Given the description of an element on the screen output the (x, y) to click on. 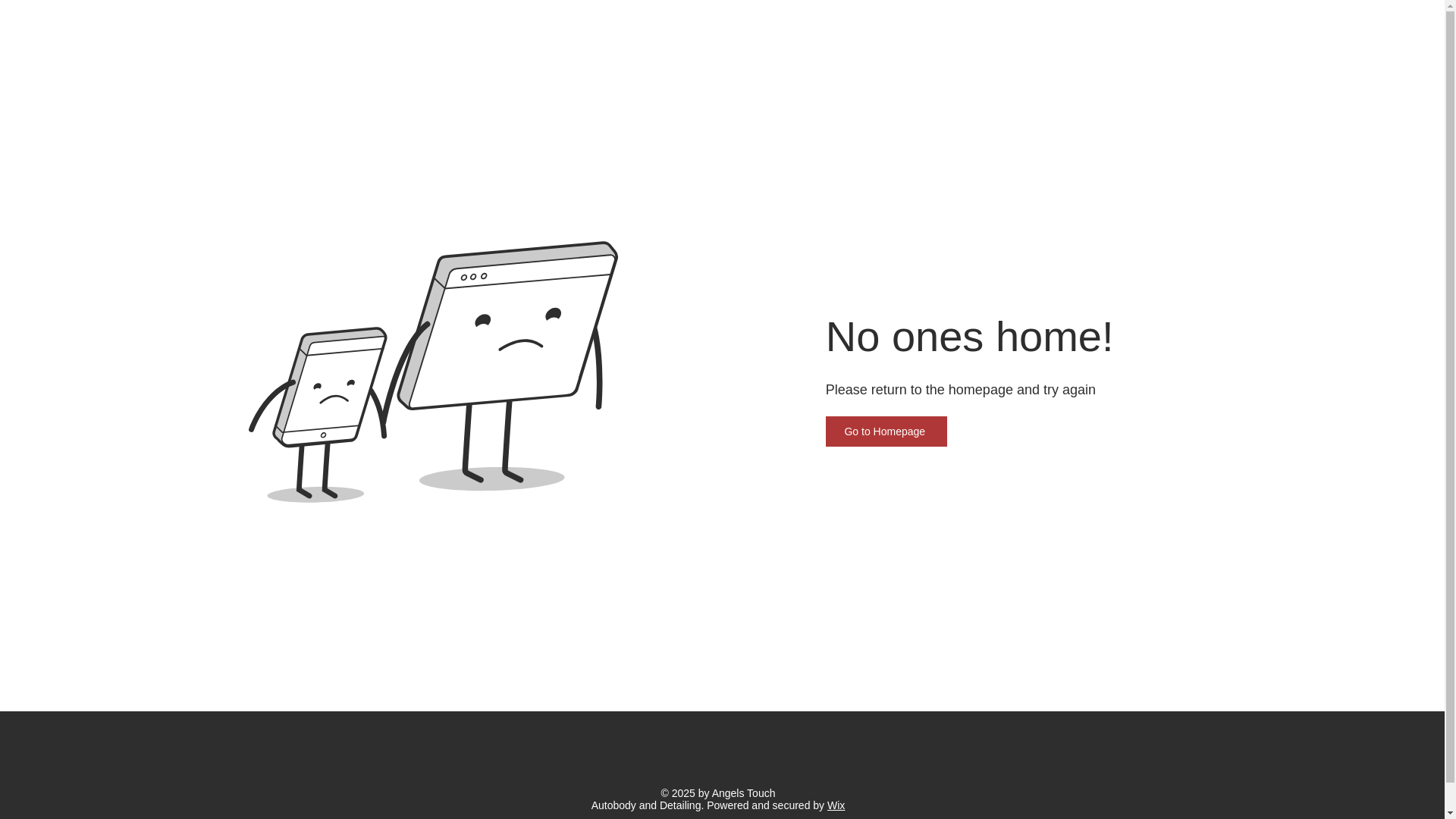
Wix (835, 805)
Go to Homepage (886, 431)
